Given the description of an element on the screen output the (x, y) to click on. 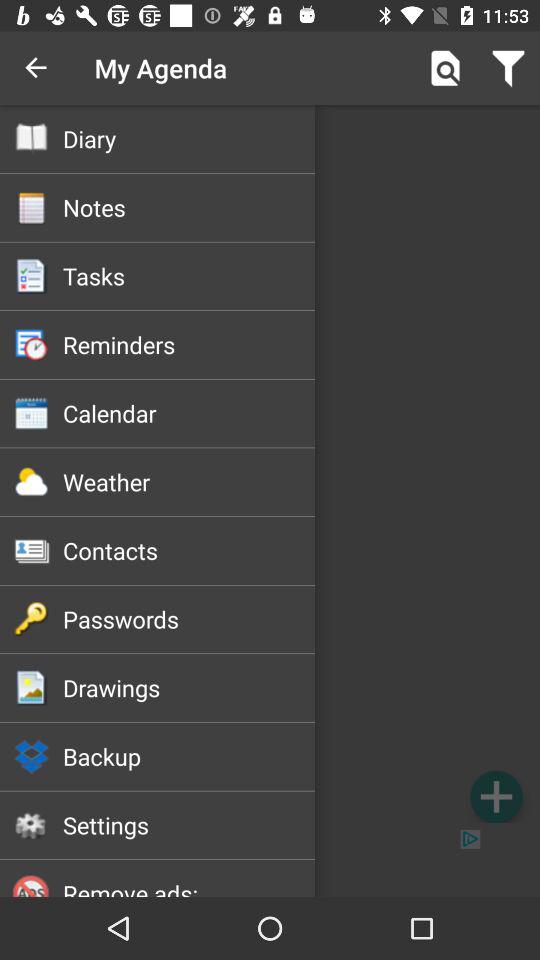
jump to the drawings item (188, 687)
